Given the description of an element on the screen output the (x, y) to click on. 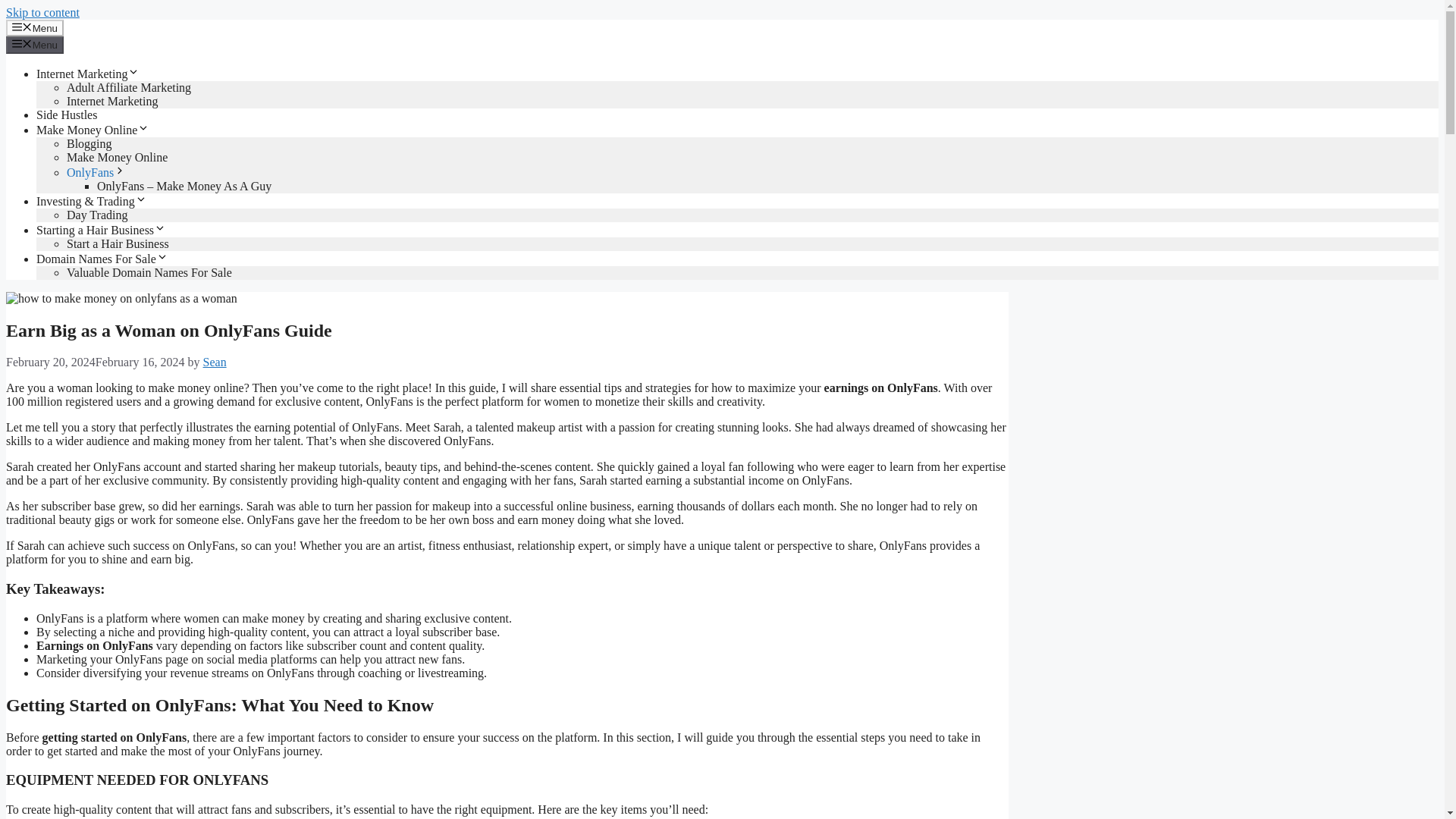
Make Money Online (116, 156)
Make Money Online (92, 129)
Internet Marketing (111, 101)
Blogging (89, 143)
Start a Hair Business (117, 243)
Valuable Domain Names For Sale (148, 272)
Domain Names For Sale (102, 258)
OnlyFans (95, 172)
Side Hustles (66, 114)
Menu (34, 44)
Internet Marketing (87, 73)
View all posts by Sean (215, 361)
Starting a Hair Business (100, 229)
Sean (215, 361)
Skip to content (42, 11)
